Given the description of an element on the screen output the (x, y) to click on. 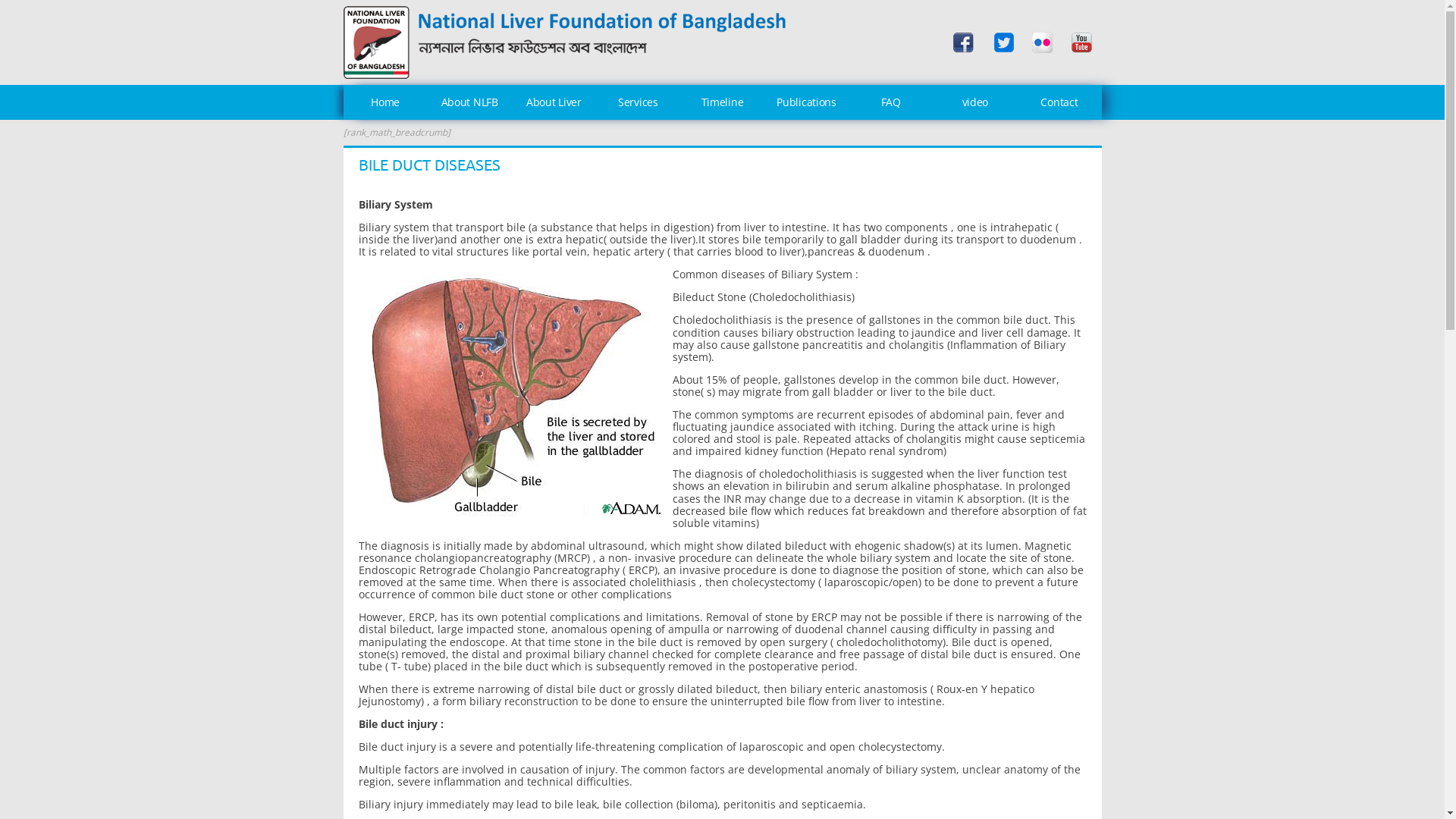
Home Element type: text (384, 101)
Timeline Element type: text (722, 101)
FAQ Element type: text (890, 101)
Publications Element type: text (806, 101)
Contact Element type: text (1058, 101)
video Element type: text (974, 101)
About NLFB Element type: text (469, 101)
About Liver Element type: text (553, 101)
Services Element type: text (638, 101)
